Given the description of an element on the screen output the (x, y) to click on. 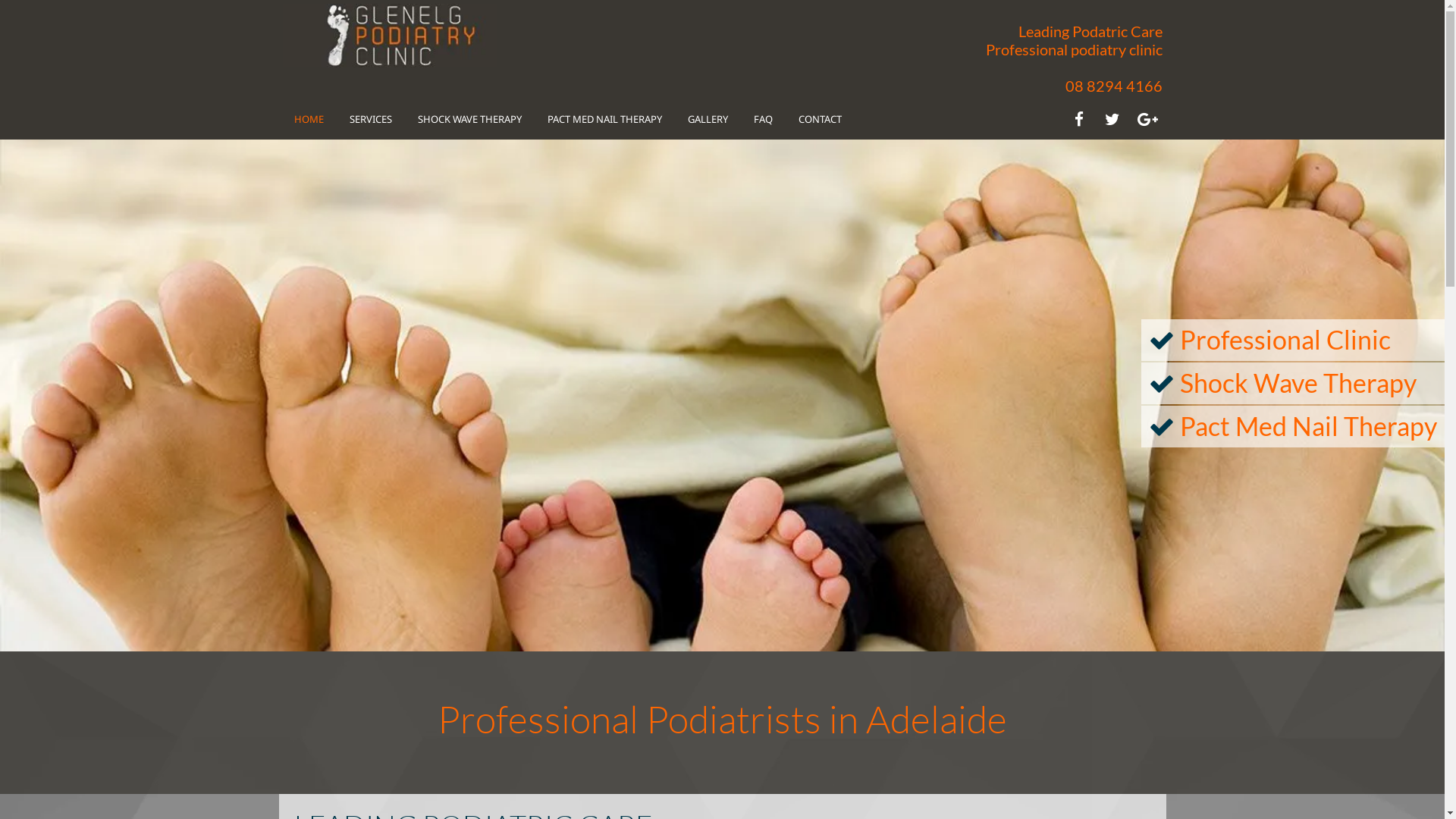
GALLERY Element type: text (707, 118)
SERVICES Element type: text (369, 118)
08 8294 4166 Element type: text (1112, 85)
PACT MED NAIL THERAPY Element type: text (604, 118)
family feet Element type: hover (722, 395)
glenelg podiatry logo Element type: hover (389, 35)
HOME Element type: text (308, 118)
FAQ Element type: text (762, 118)
Professional Clinic Element type: text (1284, 338)
CONTACT Element type: text (818, 118)
Pact Med Nail Therapy Element type: text (1308, 425)
Shock Wave Therapy Element type: text (1297, 382)
SHOCK WAVE THERAPY Element type: text (468, 118)
